Given the description of an element on the screen output the (x, y) to click on. 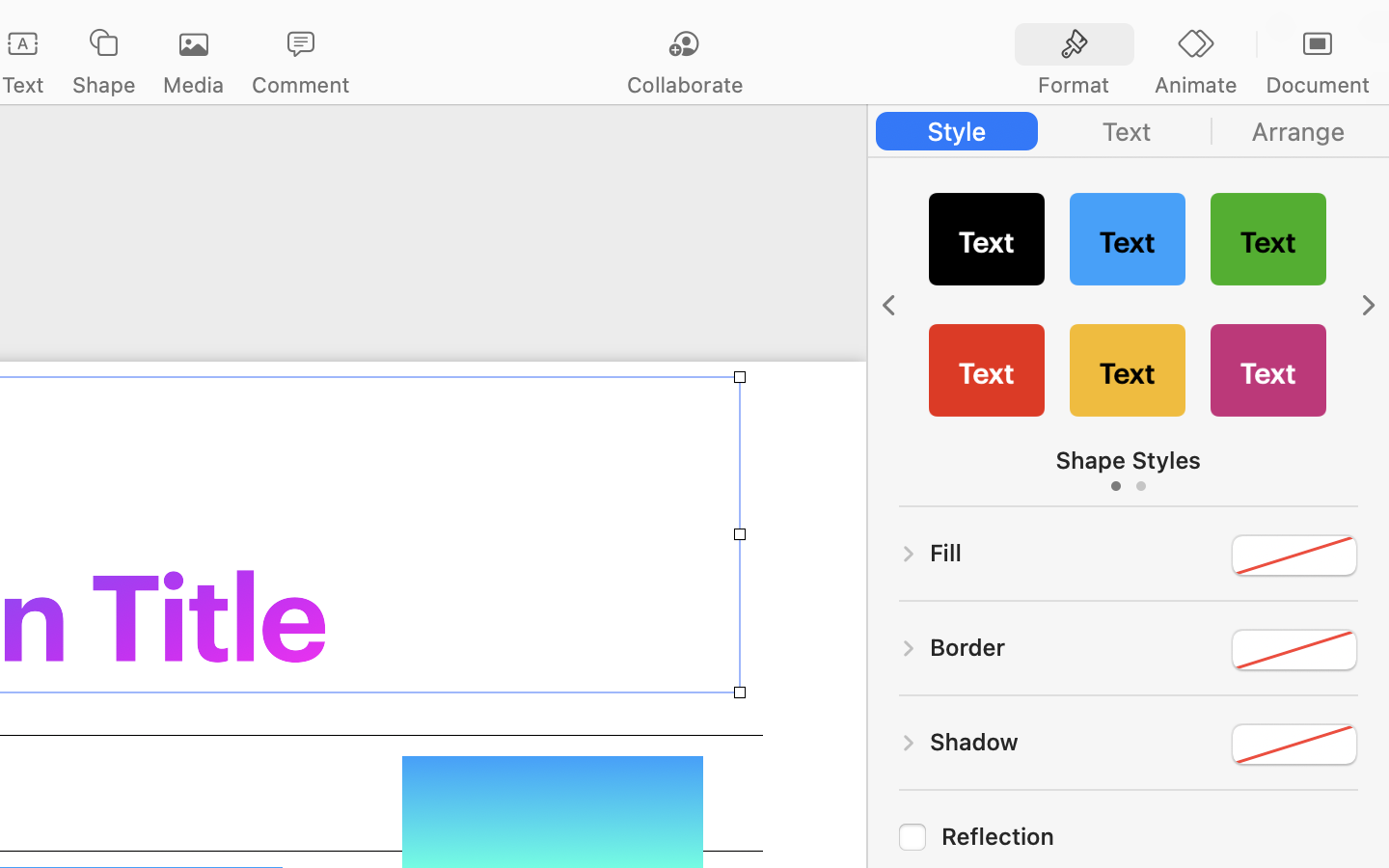
<AXUIElement 0x1216da790> {pid=1697} Element type: AXRadioGroup (1128, 131)
Border Element type: AXStaticText (967, 646)
Shadow Element type: AXStaticText (974, 741)
